Given the description of an element on the screen output the (x, y) to click on. 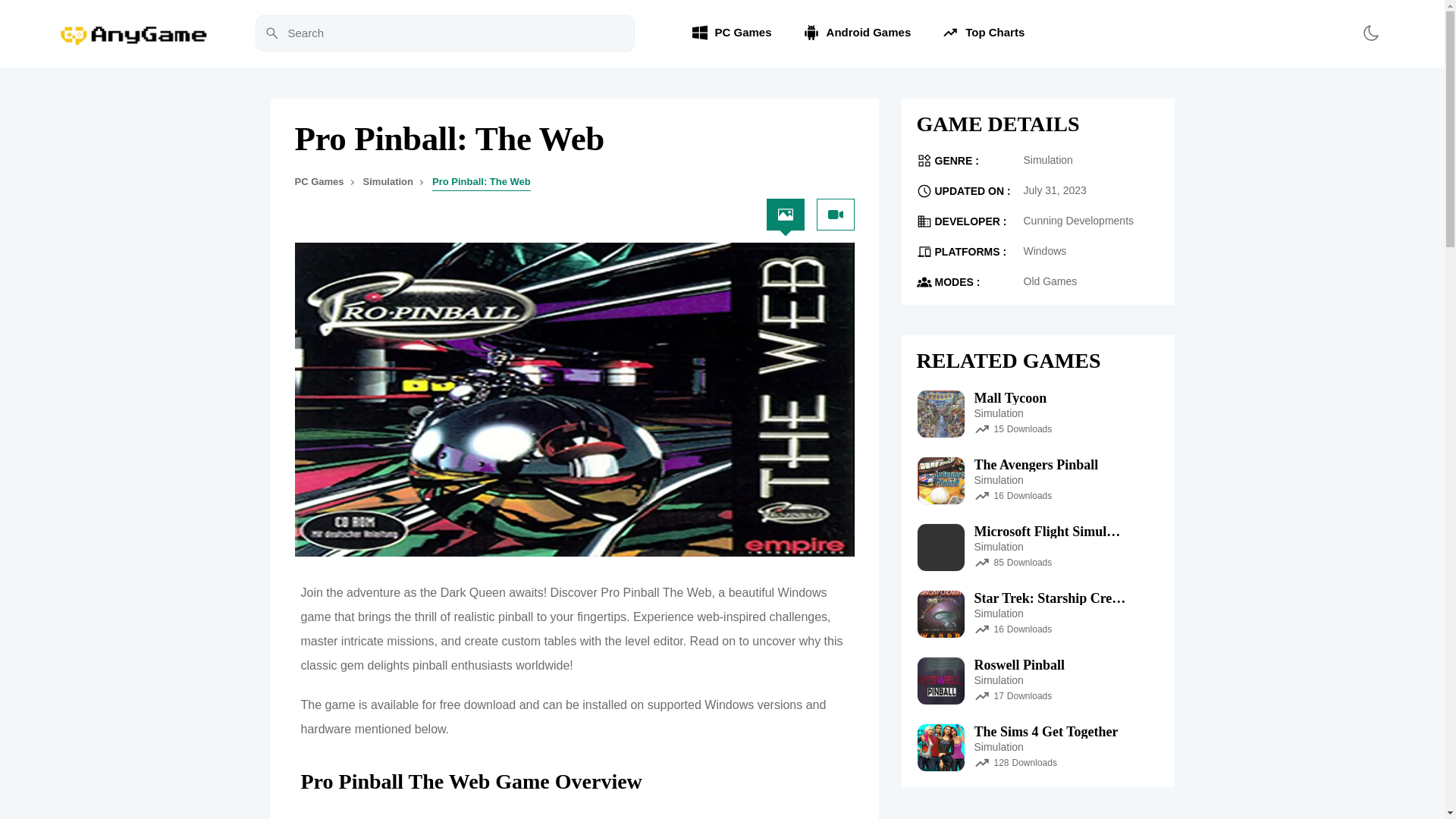
The Sims 4 Get Together (1046, 731)
Simulation (1048, 160)
PC Games (318, 181)
Android Games (857, 33)
Change site theme (1370, 33)
Top Charts (983, 33)
Mall Tycoon (1010, 397)
Simulation (387, 181)
PC Games (731, 33)
Microsoft Flight Simulator for Windows 95 (1049, 531)
Old Games (1050, 281)
Mall Tycoon (1012, 397)
Pro Pinball: The Web (550, 139)
Roswell Pinball (1019, 664)
Pro Pinball: The Web (481, 181)
